Given the description of an element on the screen output the (x, y) to click on. 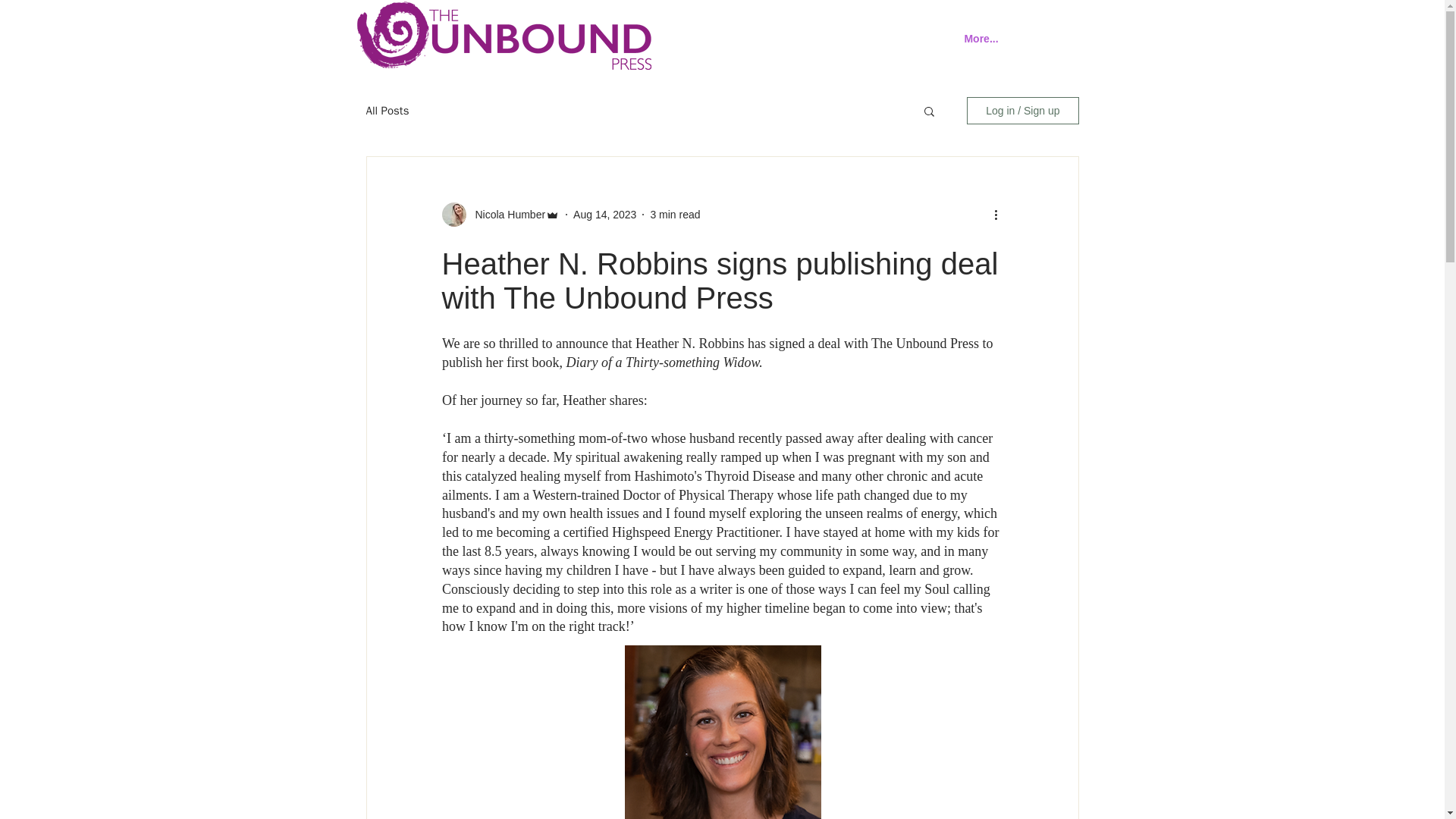
3 min read (674, 214)
Aug 14, 2023 (604, 214)
Nicola Humber (504, 213)
All Posts (387, 110)
